Given the description of an element on the screen output the (x, y) to click on. 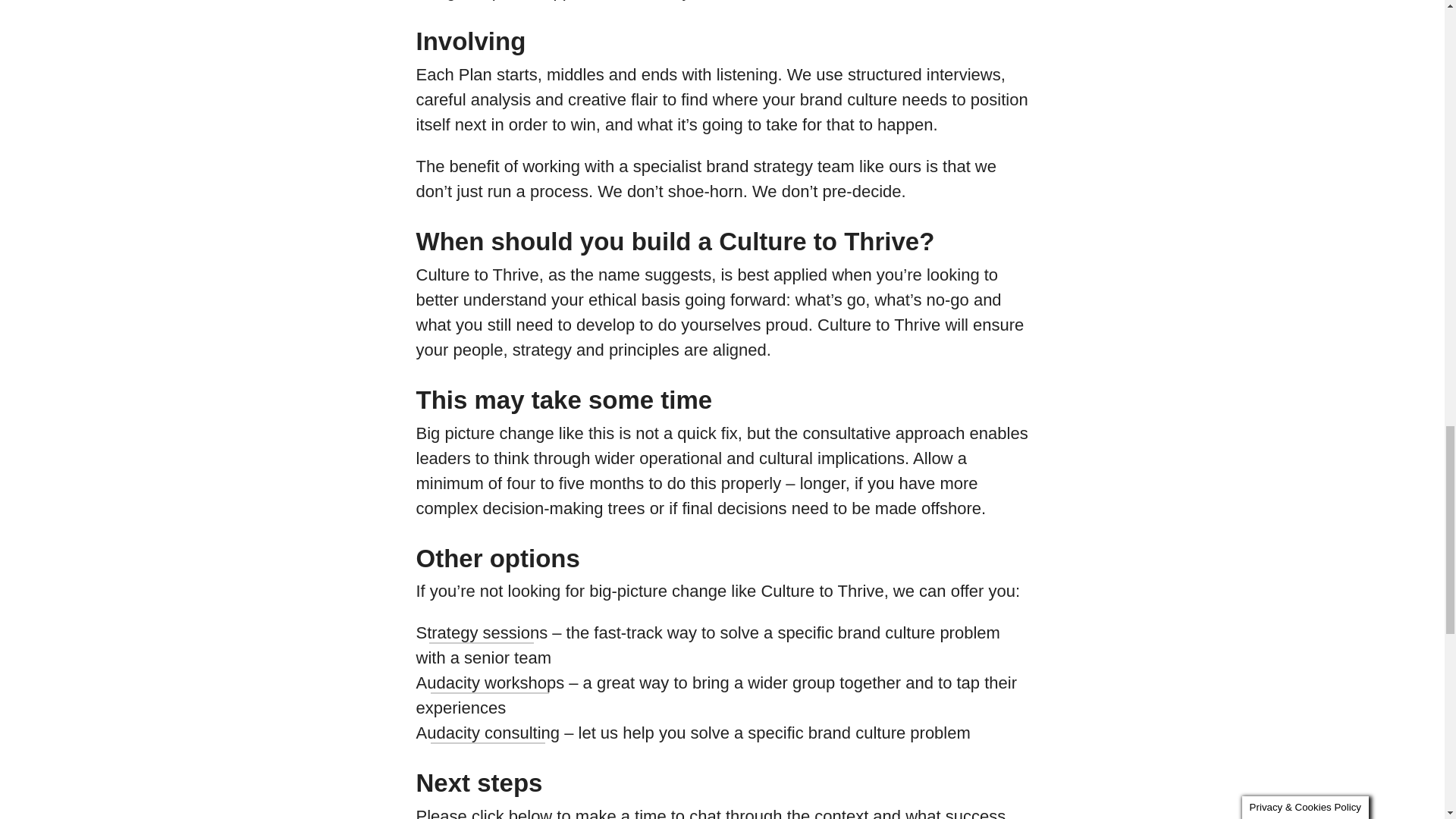
Audacity consulting (486, 736)
Strategy sessions (480, 636)
Audacity workshops (489, 686)
